Given the description of an element on the screen output the (x, y) to click on. 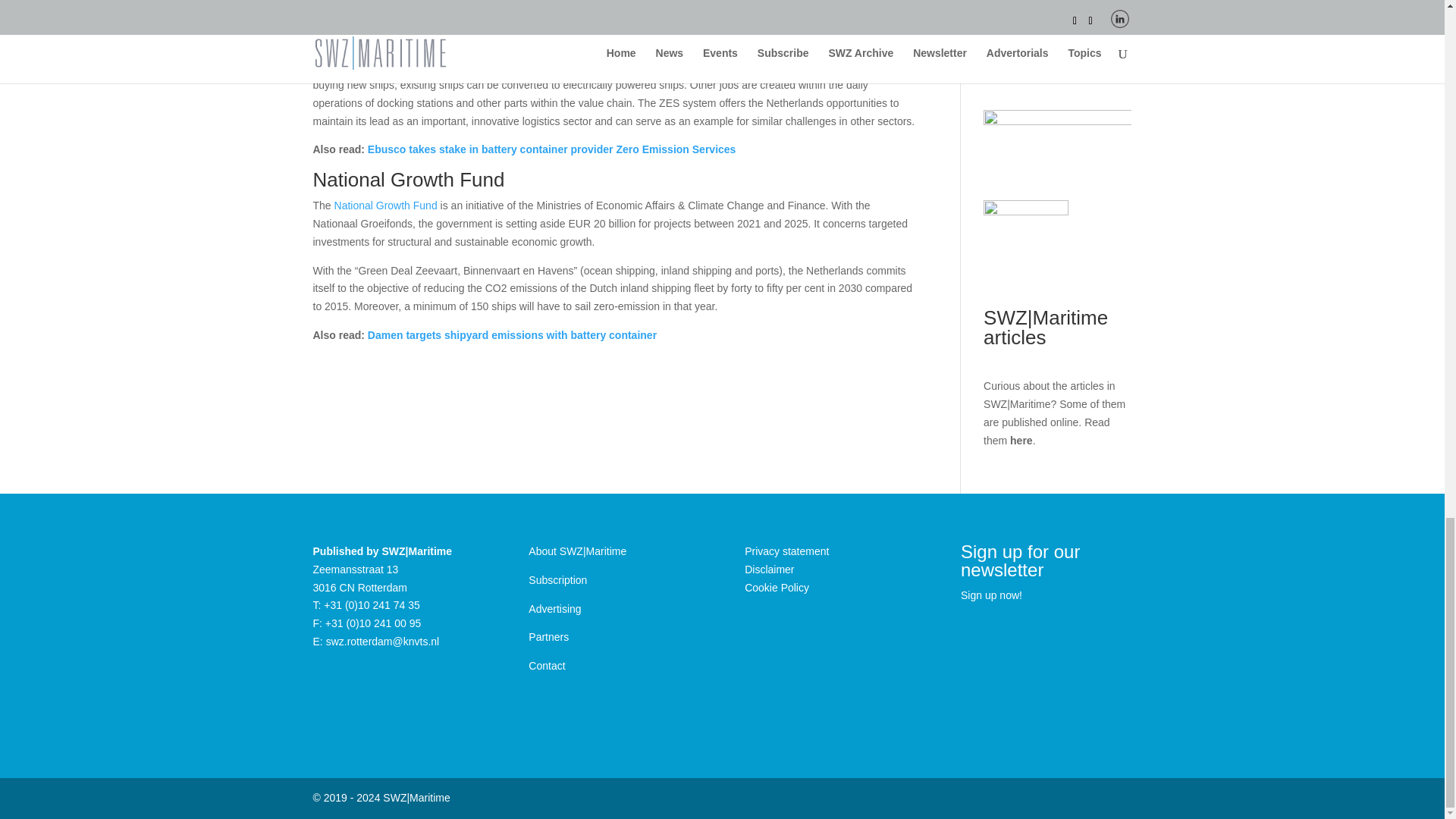
National Growth Fund (386, 205)
Damen targets shipyard emissions with battery container (512, 335)
Subscription (557, 580)
